Given the description of an element on the screen output the (x, y) to click on. 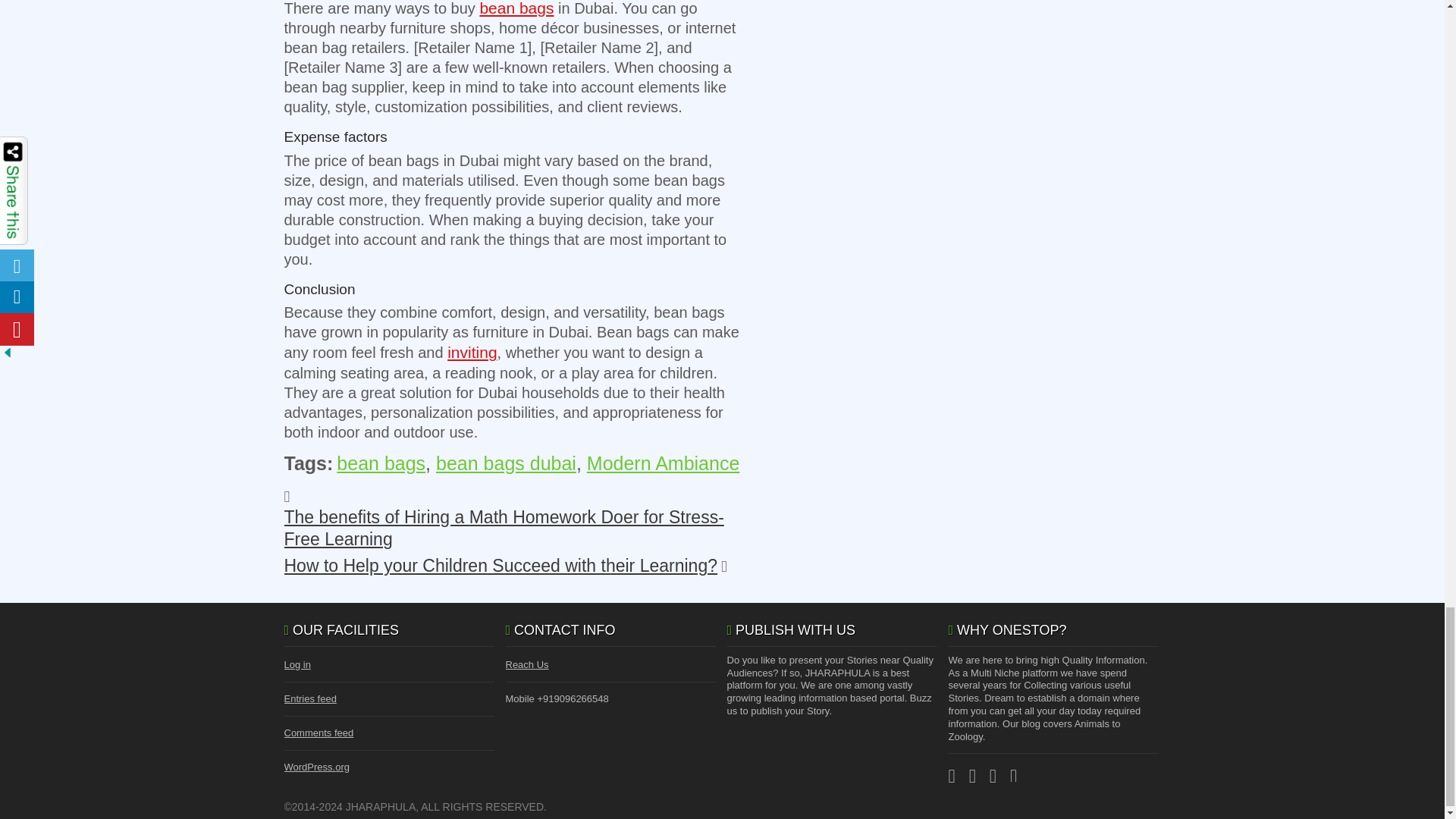
bean bags (516, 8)
bean bags (380, 463)
inviting (471, 352)
bean bags dubai (505, 463)
